Given the description of an element on the screen output the (x, y) to click on. 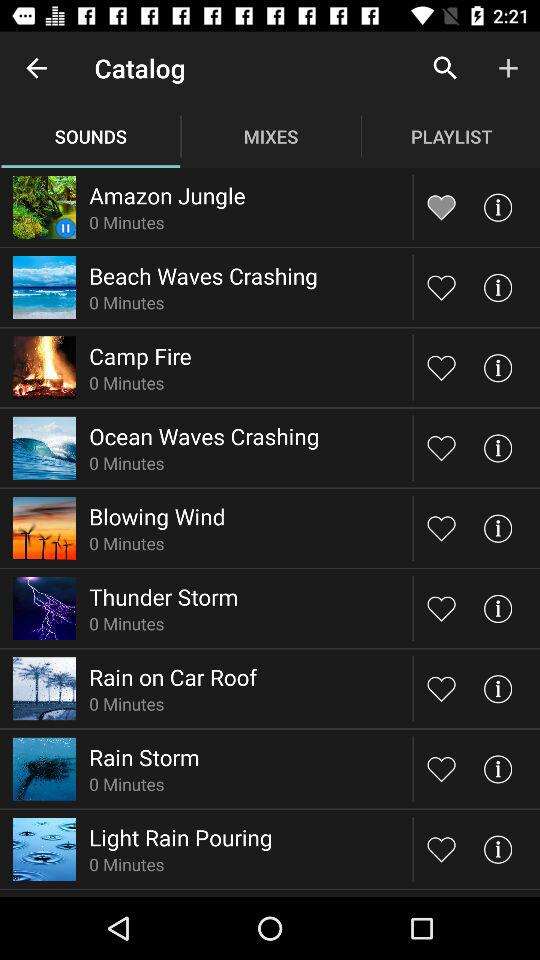
show sound information (498, 688)
